Given the description of an element on the screen output the (x, y) to click on. 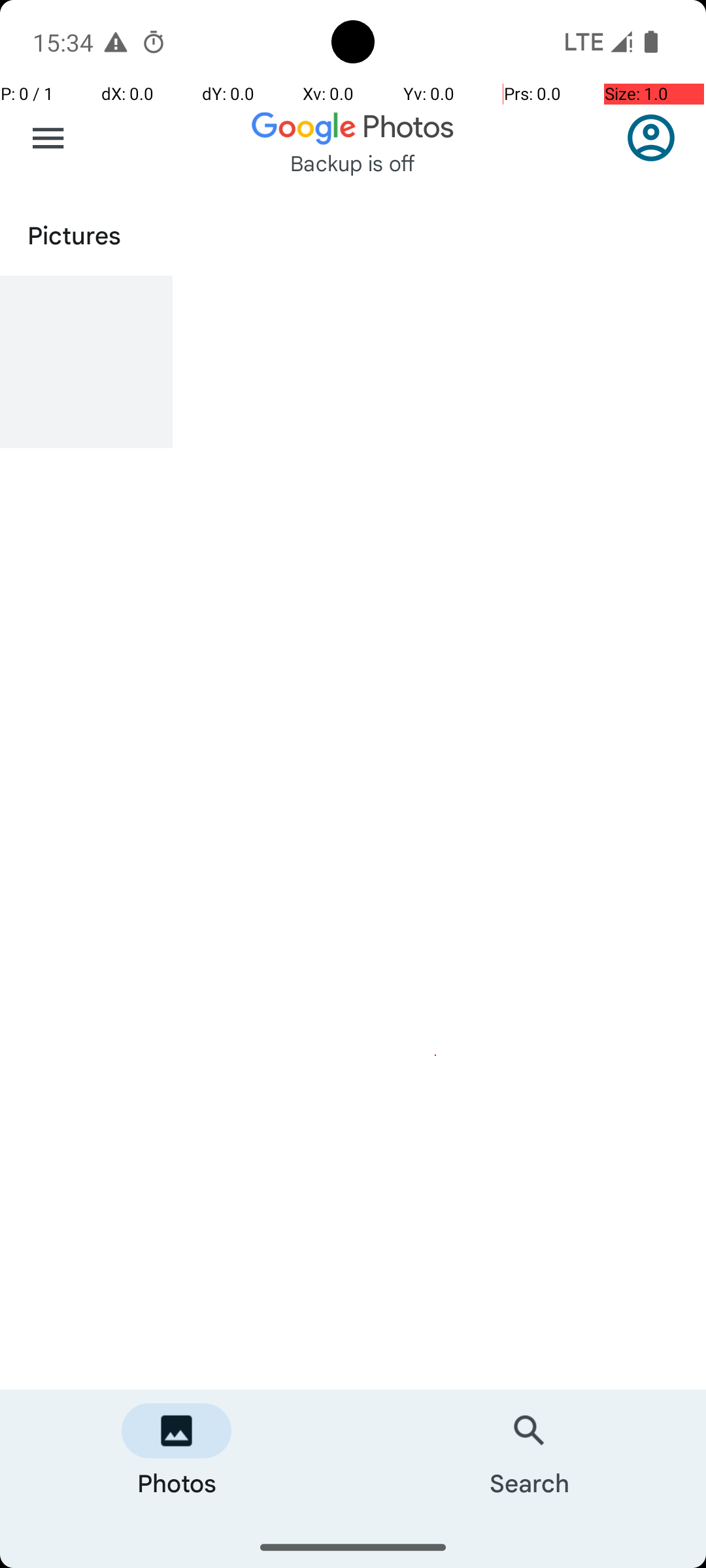
Show Navigation Drawer Element type: android.widget.ImageButton (48, 138)
Google Photos Element type: android.view.ViewGroup (352, 126)
Backup is off Element type: android.widget.TextView (352, 162)
Sign in Element type: android.widget.FrameLayout (657, 137)
Photo taken on Oct 15, 2023 15:34:14 Element type: android.view.ViewGroup (86, 361)
Pictures Element type: android.widget.TextView (366, 233)
